Given the description of an element on the screen output the (x, y) to click on. 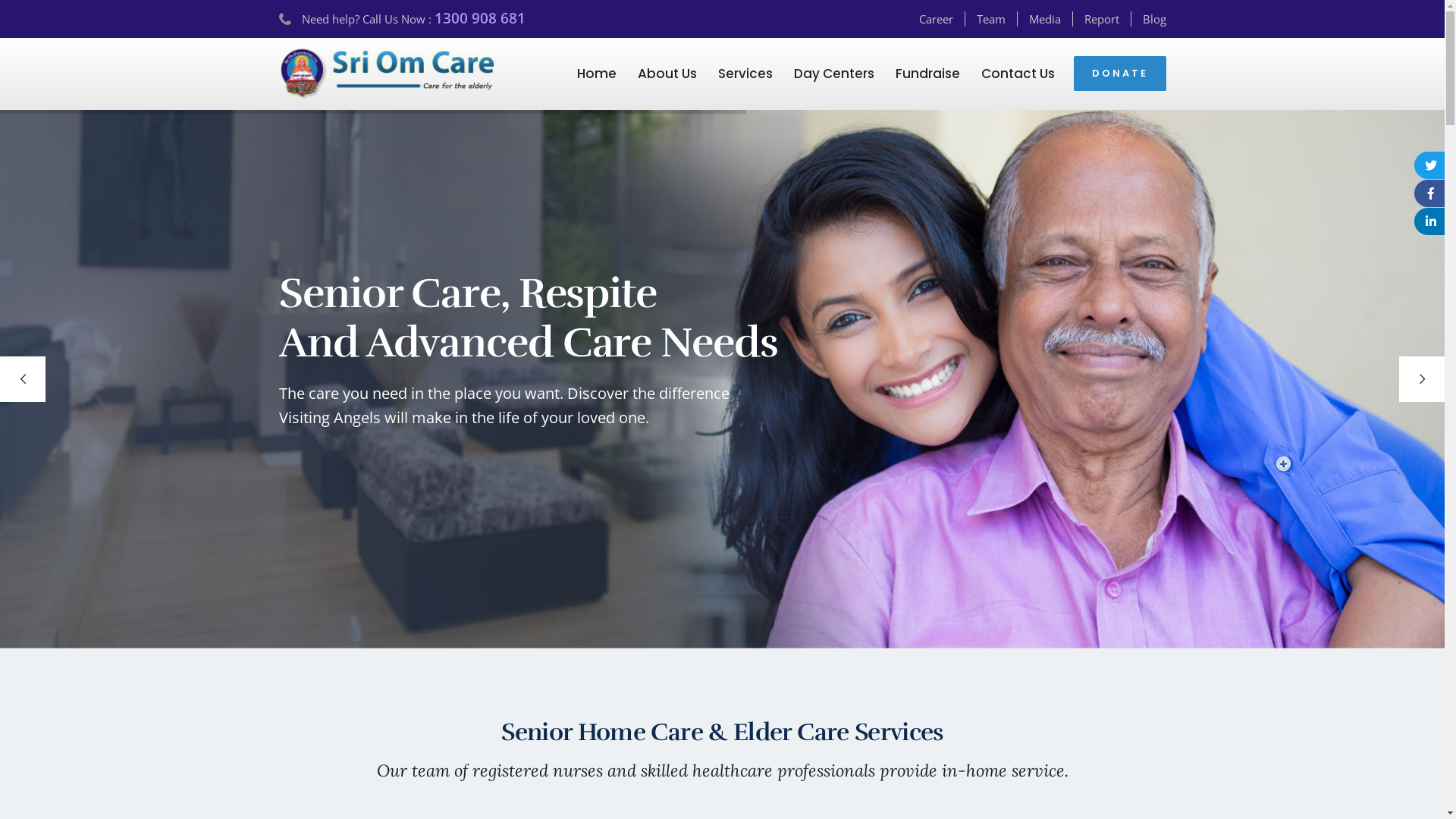
Fundraise Element type: text (926, 73)
About Us Element type: text (666, 73)
Team Element type: text (996, 18)
Media Element type: text (1050, 18)
DONATE Element type: text (1119, 73)
Report Element type: text (1107, 18)
Career Element type: text (942, 18)
Home Element type: text (595, 73)
Blog Element type: text (1153, 18)
Day Centers Element type: text (833, 73)
1300 908 681 Element type: text (478, 18)
Services Element type: text (744, 73)
Contact Us Element type: text (1017, 73)
